Given the description of an element on the screen output the (x, y) to click on. 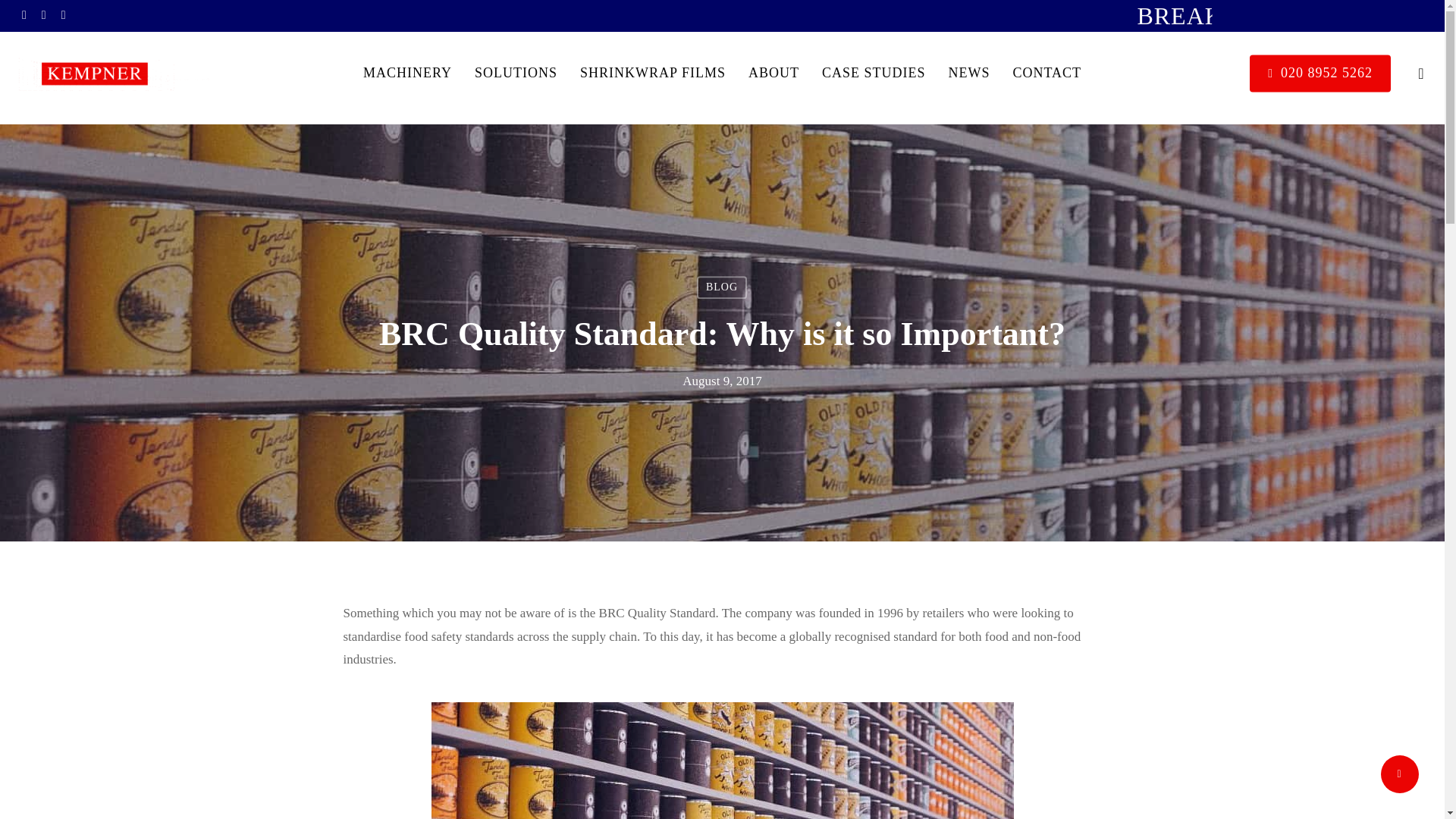
SOLUTIONS (515, 72)
SHRINKWRAP FILMS (652, 72)
CONTACT (1046, 72)
020 8952 5262 (1319, 72)
CASE STUDIES (874, 72)
NEWS (968, 72)
ABOUT (773, 72)
MACHINERY (406, 72)
